Given the description of an element on the screen output the (x, y) to click on. 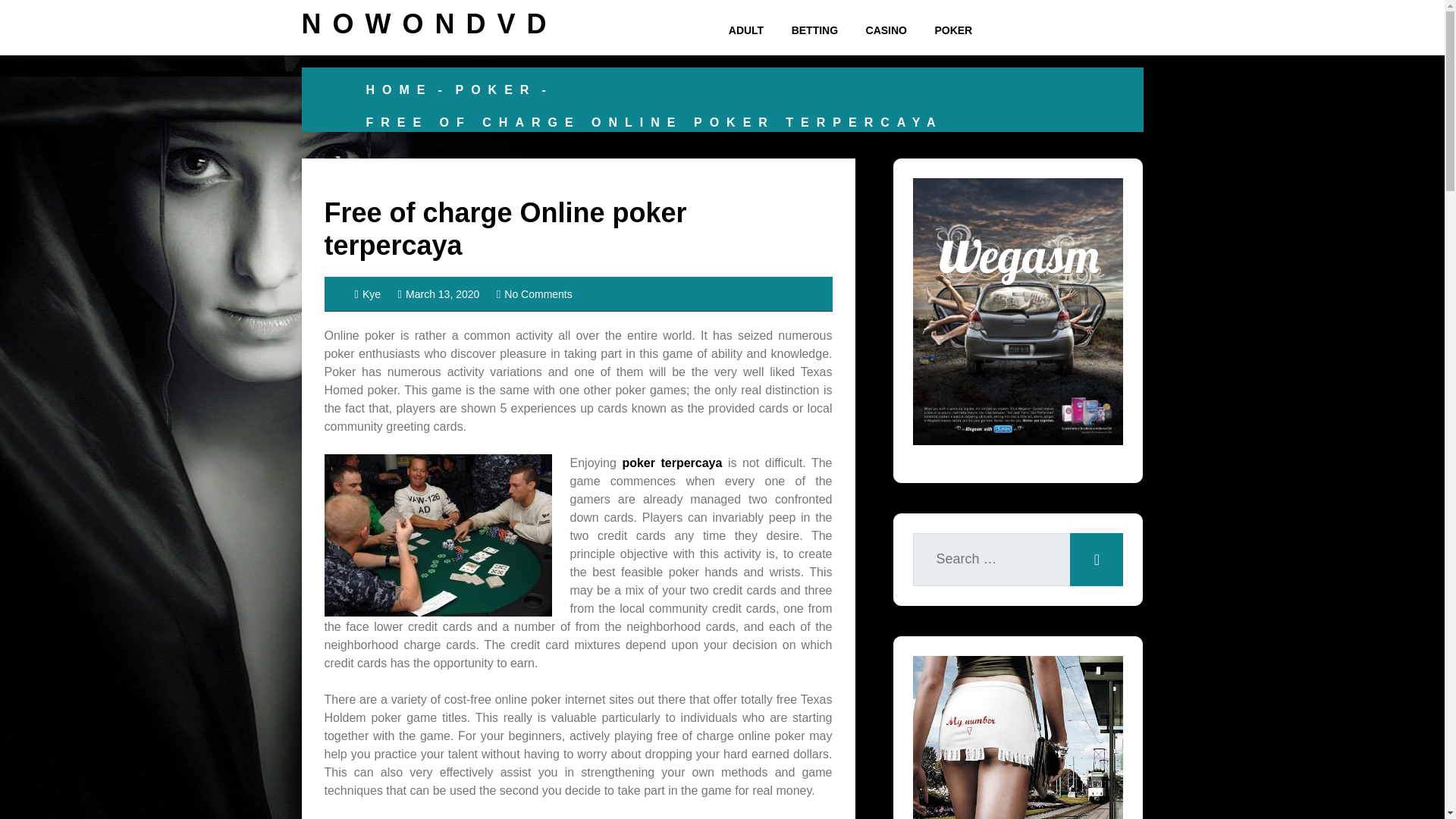
HOME (398, 90)
Kye (368, 294)
poker terpercaya (671, 462)
POKER (952, 30)
NOWONDVD (429, 23)
No Comments (534, 294)
CASINO (885, 30)
Free of charge Online poker terpercaya (505, 229)
ADULT (746, 30)
BETTING (814, 30)
